Given the description of an element on the screen output the (x, y) to click on. 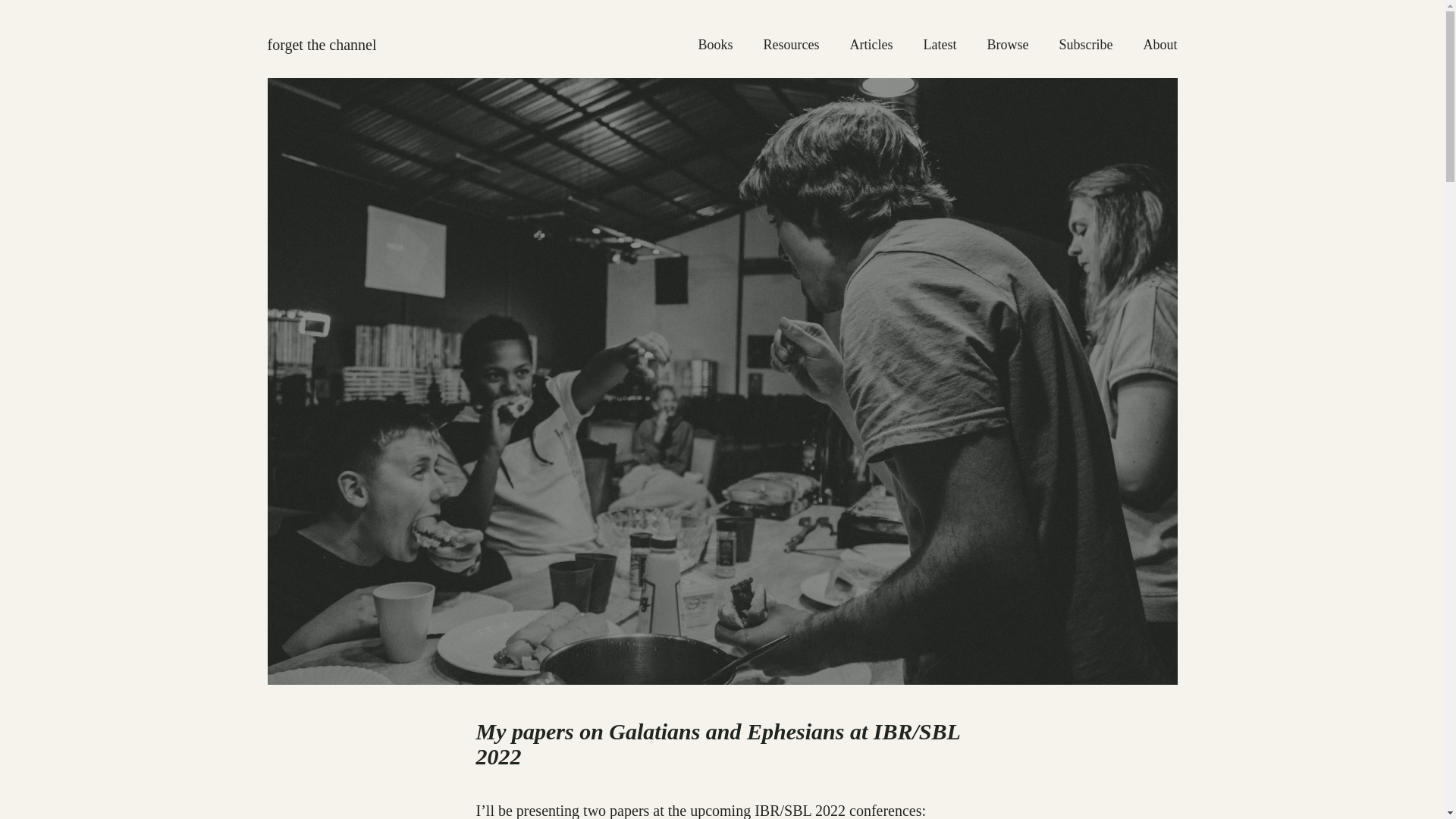
Subscribe (1085, 45)
Latest (939, 45)
Resources (790, 45)
Books (715, 45)
About (1159, 45)
Articles (871, 45)
Browse (1008, 45)
forget the channel (320, 44)
